Given the description of an element on the screen output the (x, y) to click on. 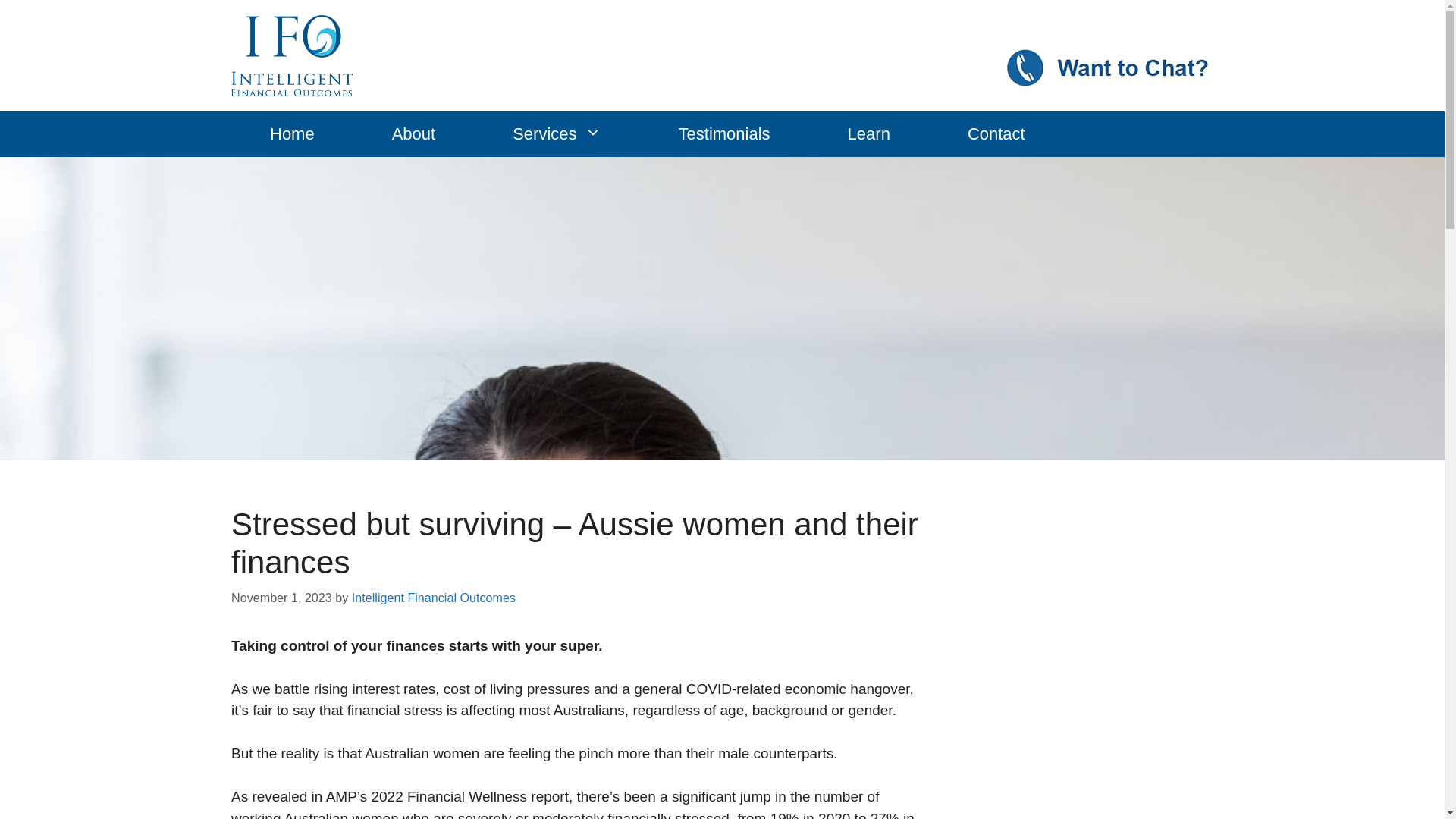
Intelligent Financial Outcomes (433, 596)
About (413, 134)
Learn (868, 134)
Testimonials (724, 134)
Services (556, 134)
Home (292, 134)
View all posts by Intelligent Financial Outcomes (433, 596)
Contact (996, 134)
